Given the description of an element on the screen output the (x, y) to click on. 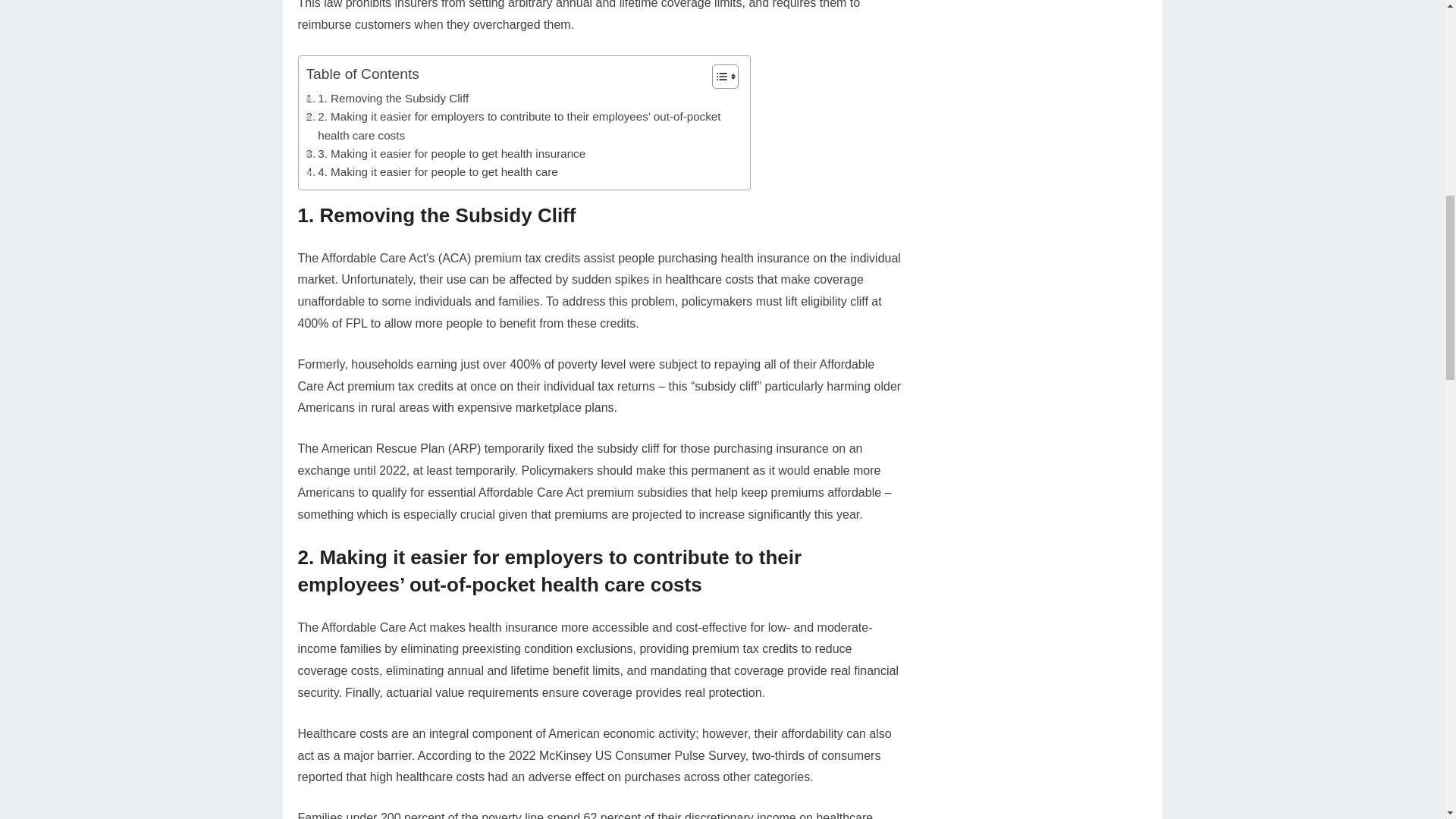
1. Removing the Subsidy Cliff (386, 98)
1. Removing the Subsidy Cliff (386, 98)
4. Making it easier for people to get health care (431, 171)
3. Making it easier for people to get health insurance (445, 153)
4. Making it easier for people to get health care (431, 171)
3. Making it easier for people to get health insurance (445, 153)
